Given the description of an element on the screen output the (x, y) to click on. 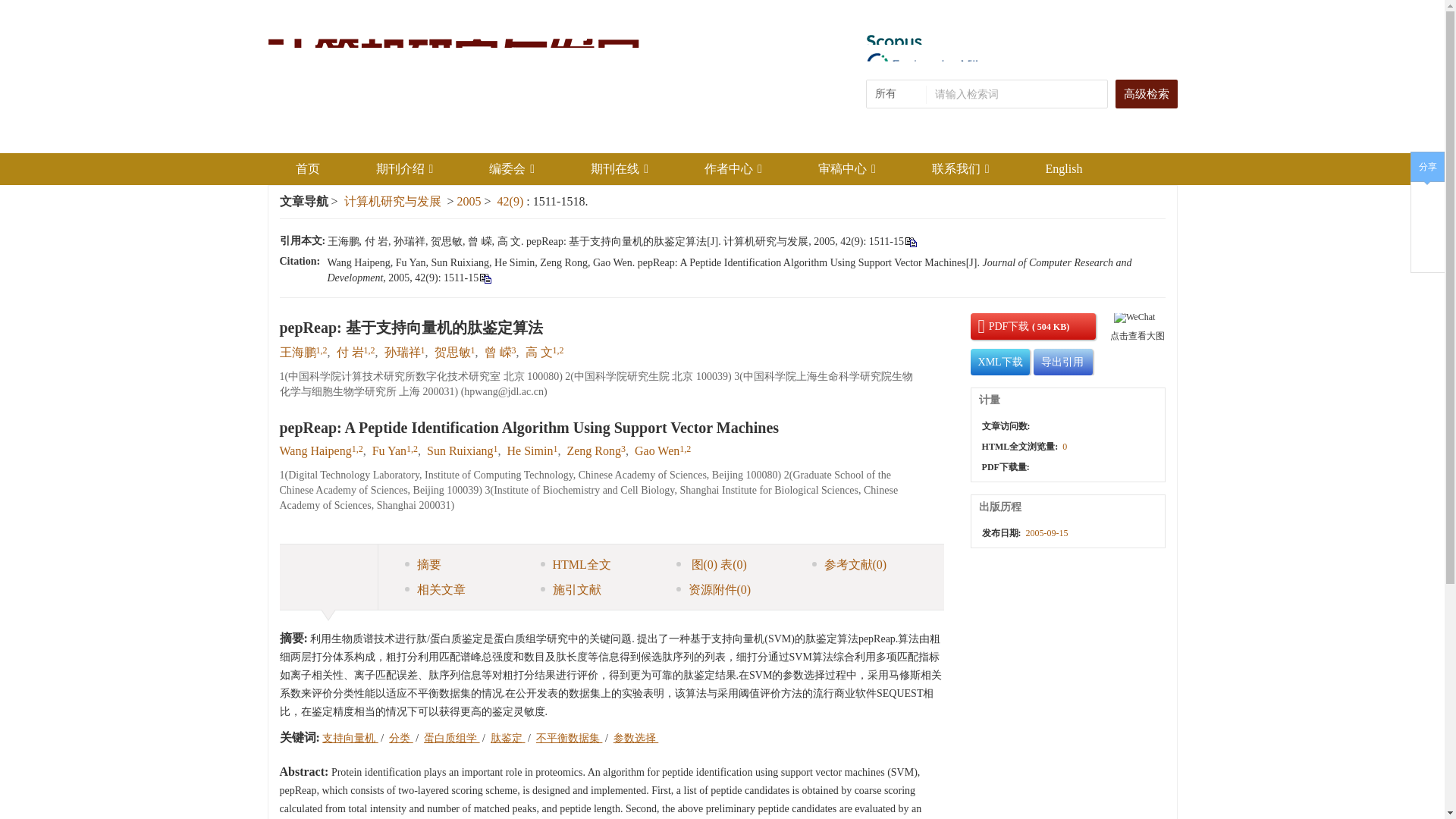
copy to clipboard (485, 277)
English (1063, 168)
